Given the description of an element on the screen output the (x, y) to click on. 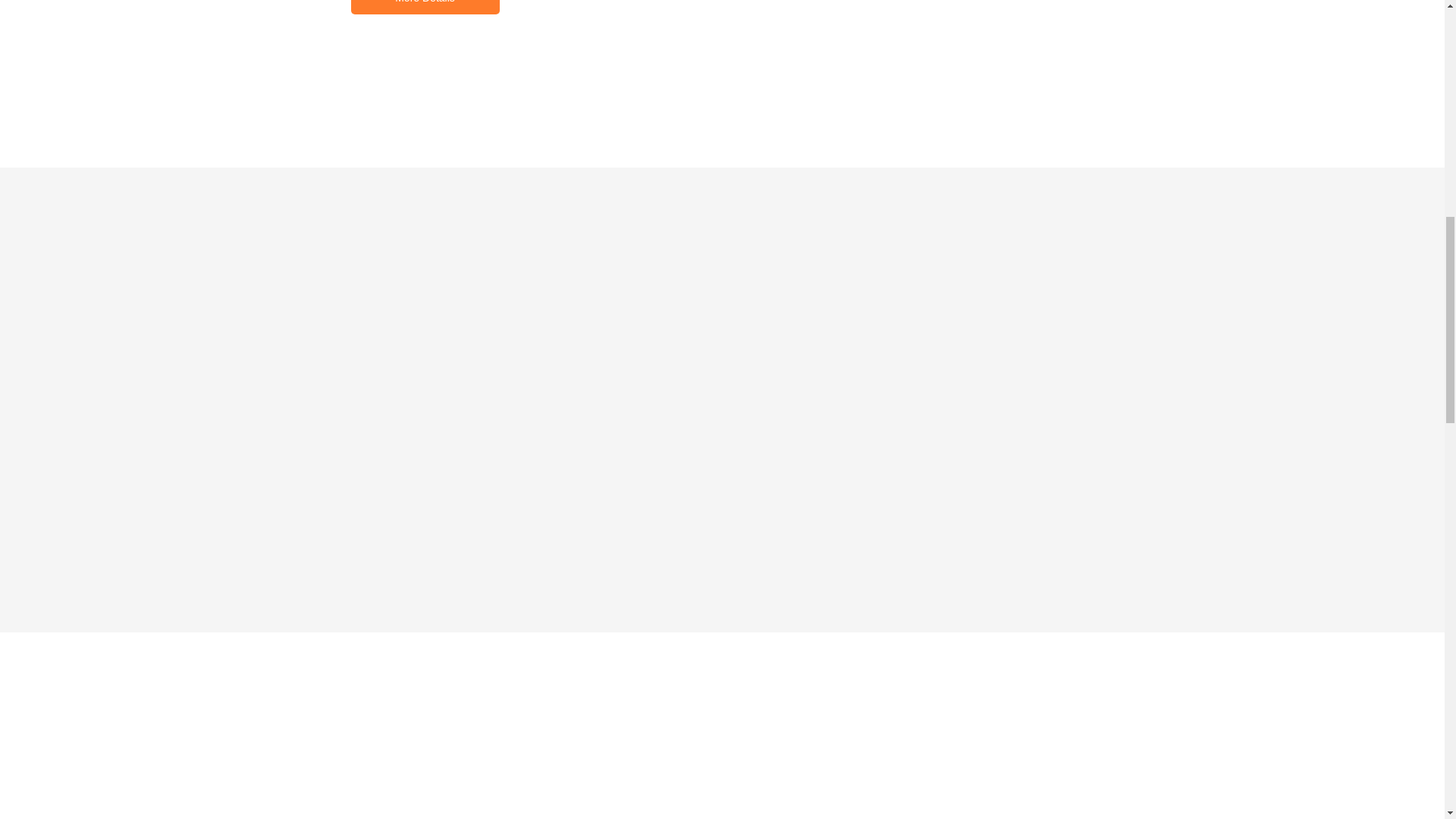
More Details (424, 7)
